Given the description of an element on the screen output the (x, y) to click on. 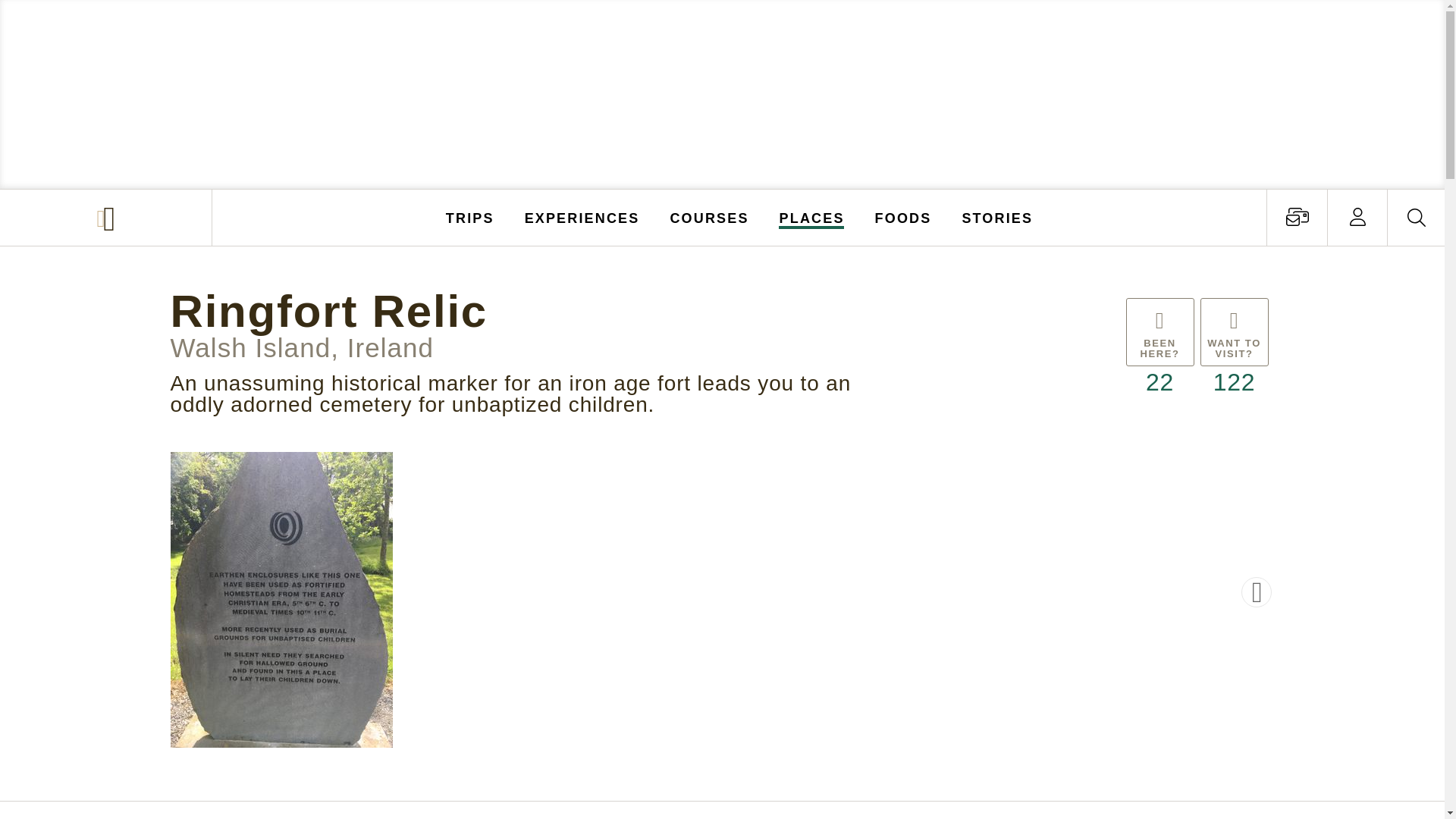
COURSES (707, 217)
EXPERIENCES (582, 217)
PLACES (812, 217)
TRIPS (469, 217)
